Given the description of an element on the screen output the (x, y) to click on. 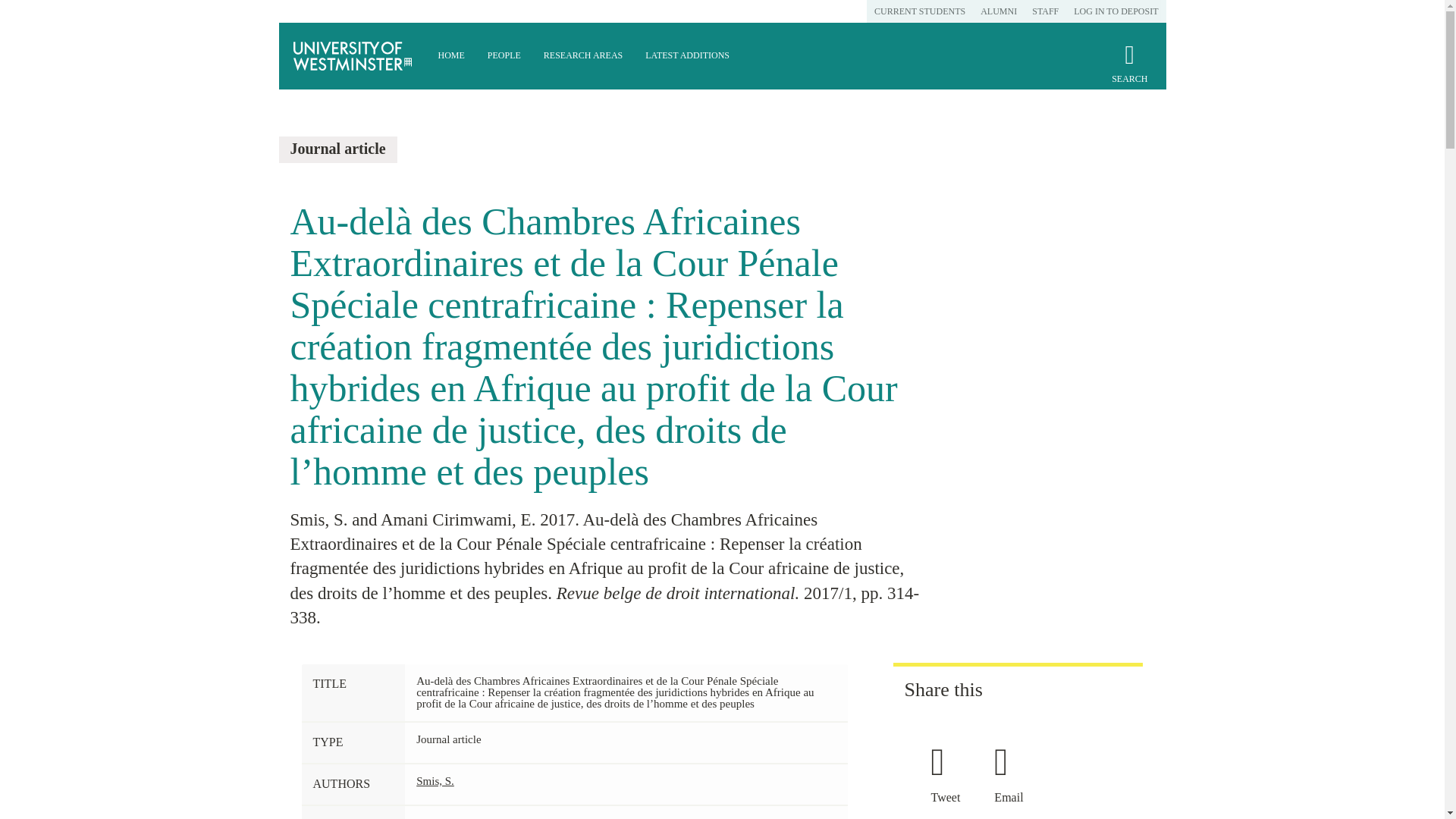
RESEARCH AREAS (582, 55)
University of Westminster (352, 55)
STAFF (1045, 11)
CURRENT STUDENTS (919, 11)
Smis, S. (435, 780)
SEARCH (1129, 69)
LATEST ADDITIONS (687, 55)
LOG IN TO DEPOSIT (1115, 11)
ALUMNI (998, 11)
